Given the description of an element on the screen output the (x, y) to click on. 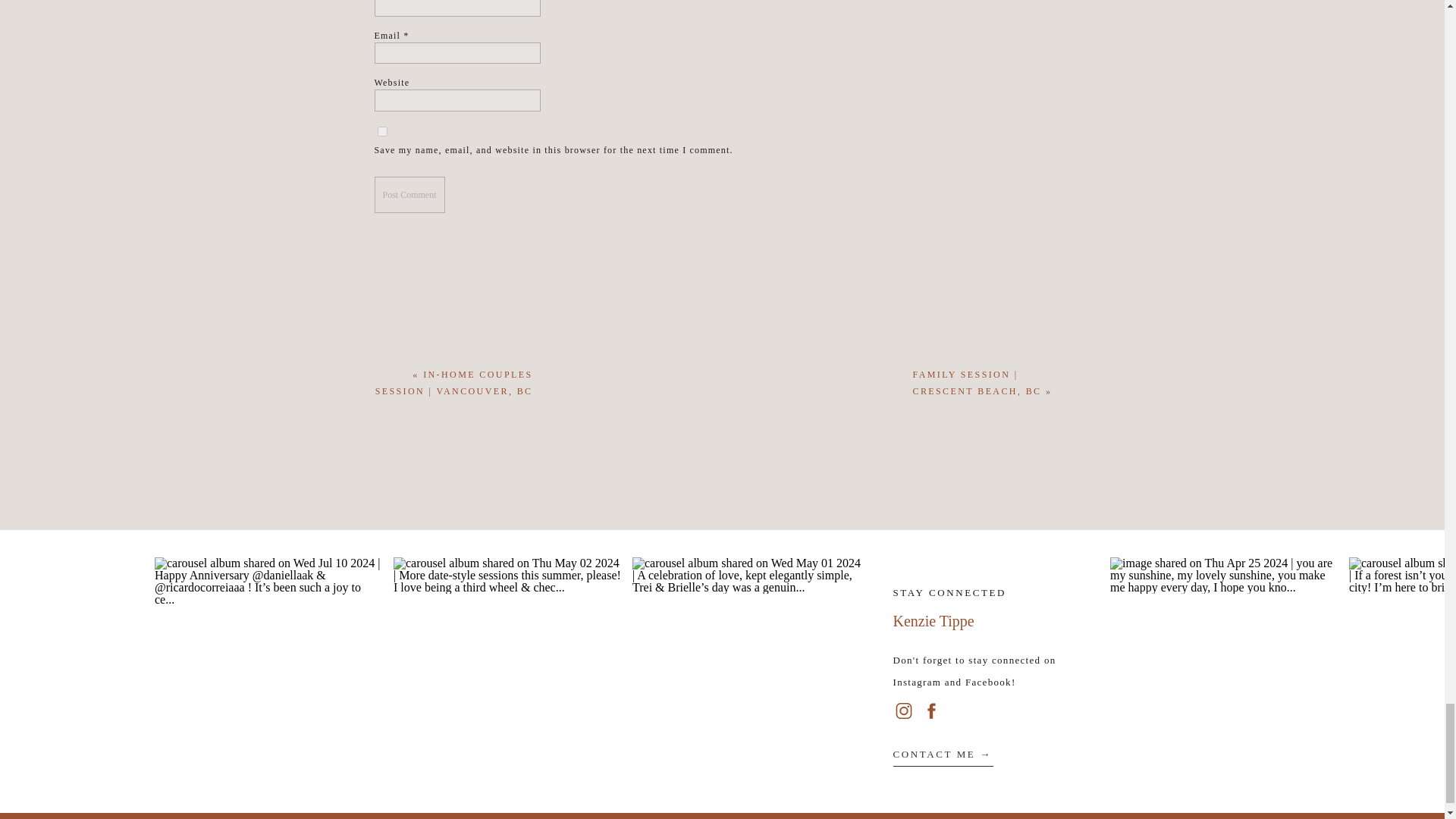
Post Comment (409, 194)
yes (382, 131)
Post Comment (409, 194)
